Given the description of an element on the screen output the (x, y) to click on. 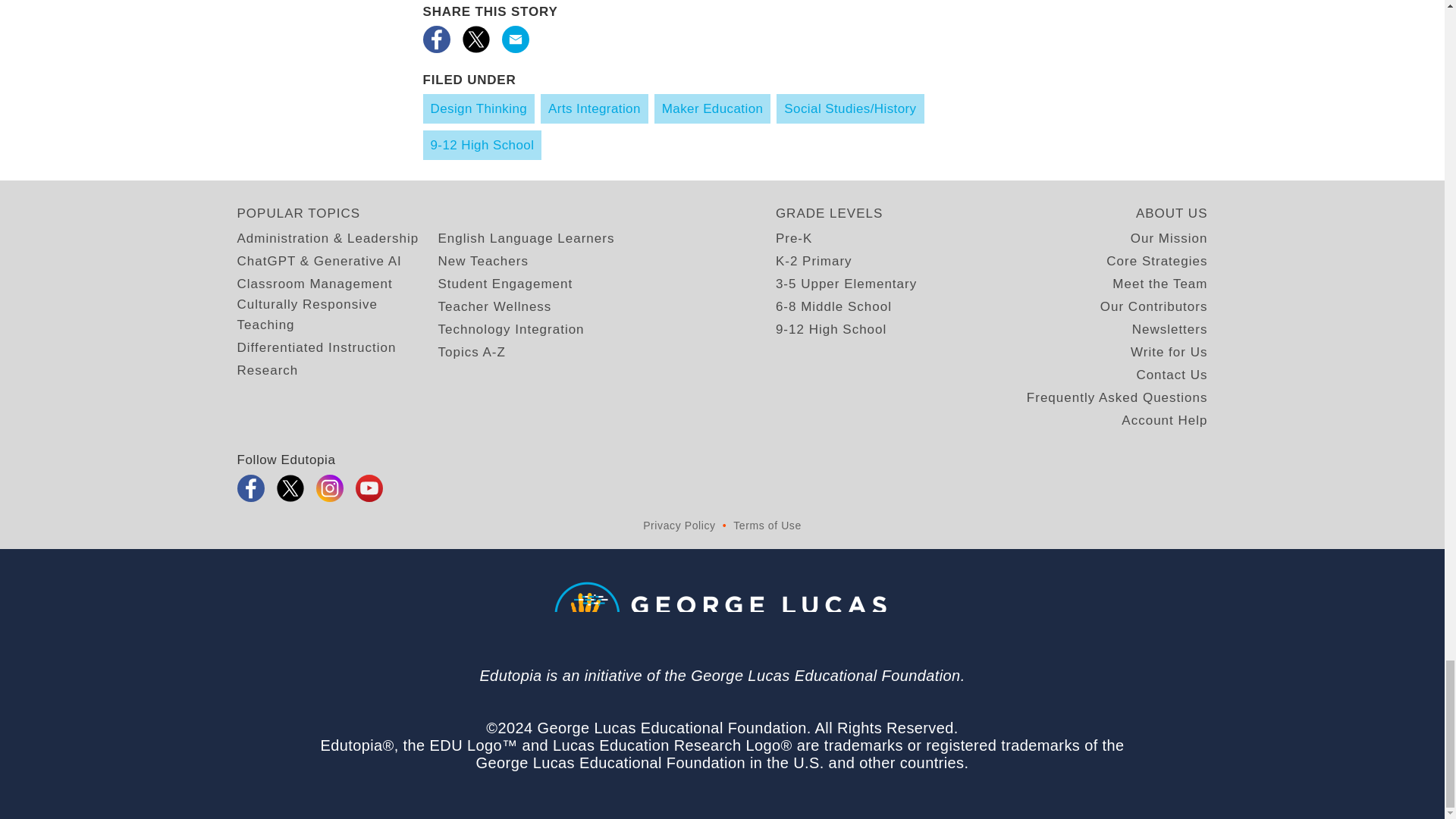
Classroom Management (313, 283)
Maker Education (712, 108)
9-12 High School (482, 144)
Culturally Responsive Teaching (336, 314)
Design Thinking (479, 108)
Arts Integration (593, 108)
